Given the description of an element on the screen output the (x, y) to click on. 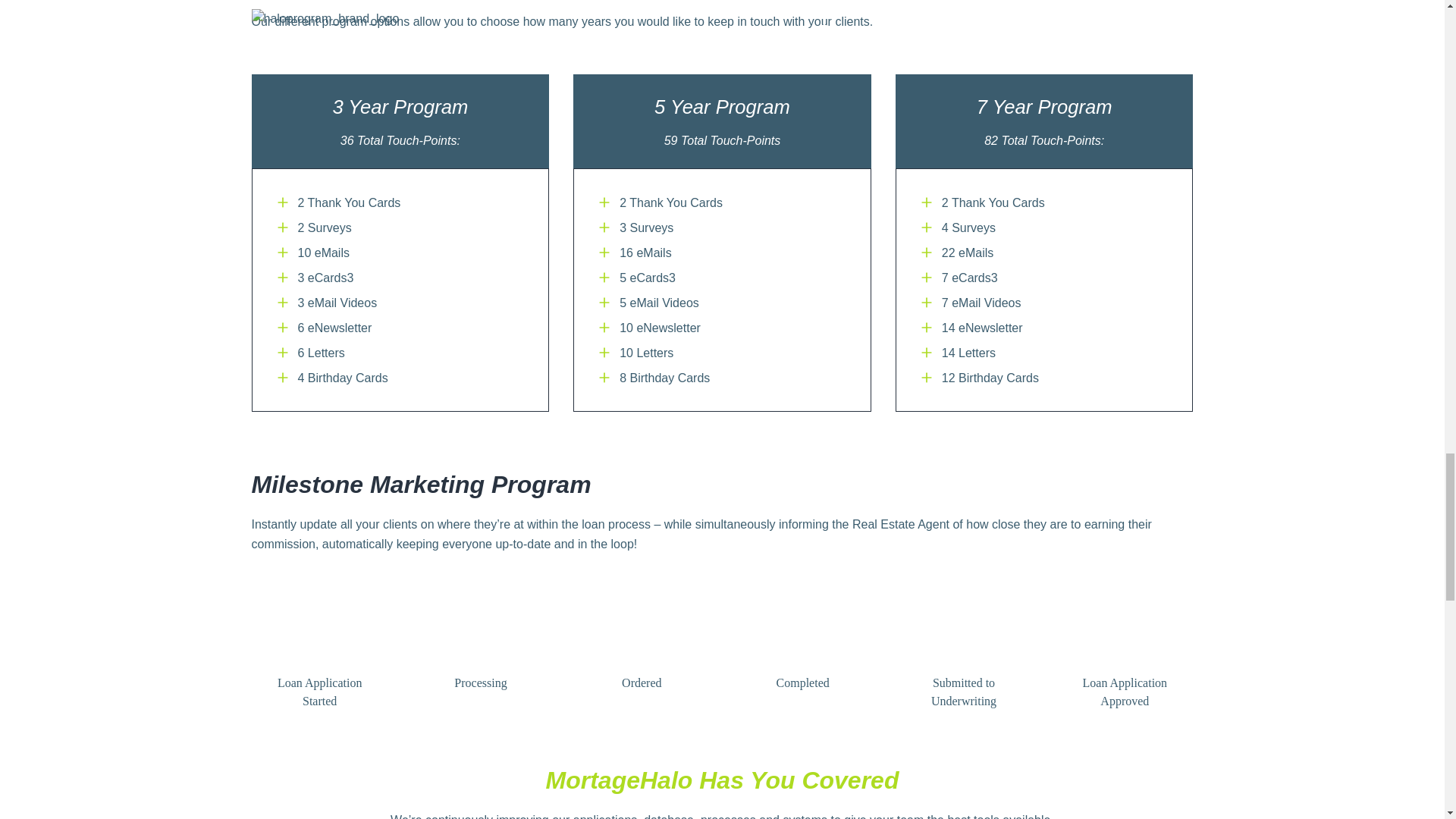
Ordered (641, 652)
Completed (801, 652)
Loan Application Started (319, 661)
Processing (480, 652)
